Given the description of an element on the screen output the (x, y) to click on. 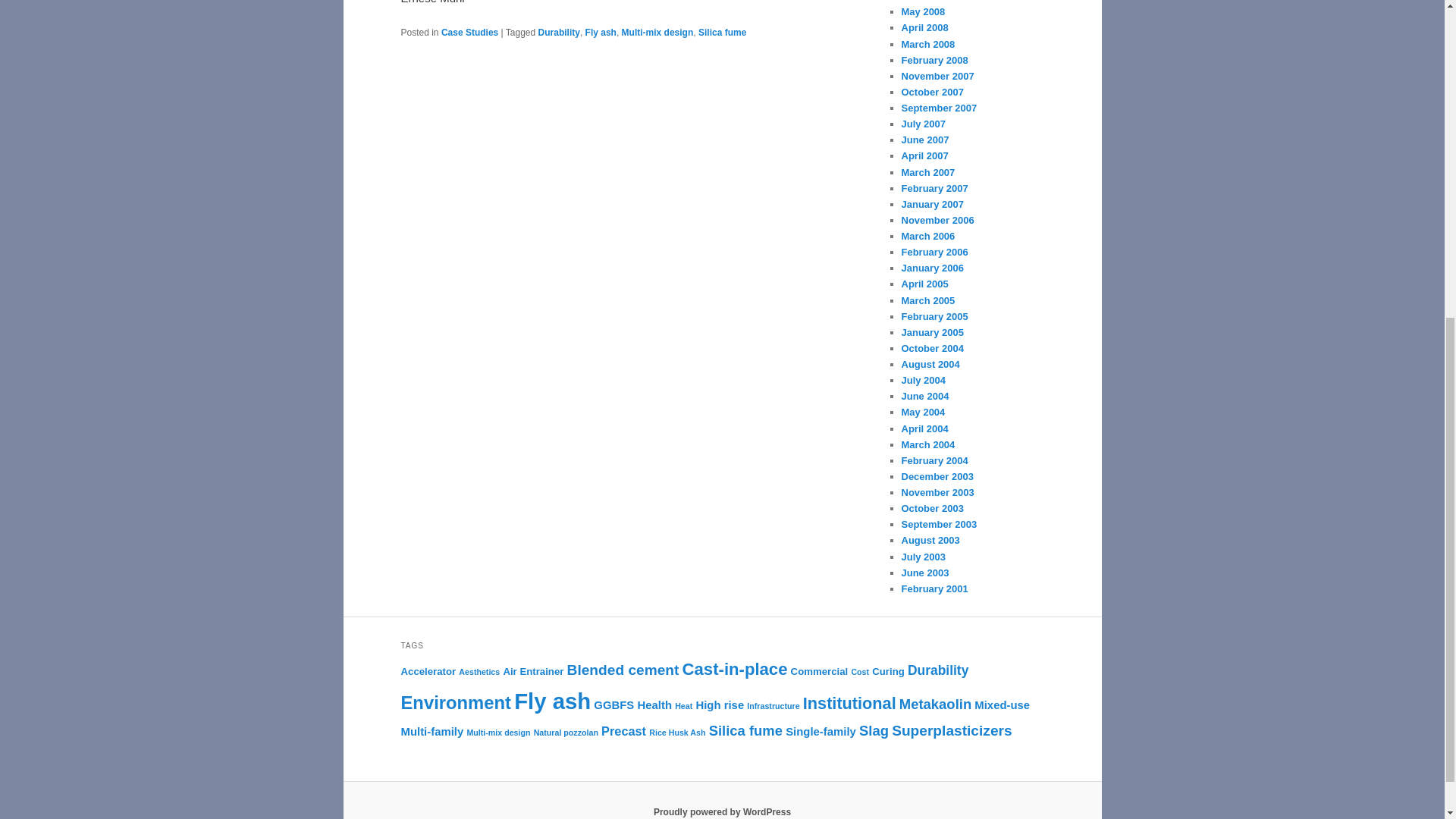
Fly ash (600, 32)
Semantic Personal Publishing Platform (721, 811)
Case Studies (469, 32)
Multi-mix design (657, 32)
Silica fume (721, 32)
Durability (558, 32)
